Given the description of an element on the screen output the (x, y) to click on. 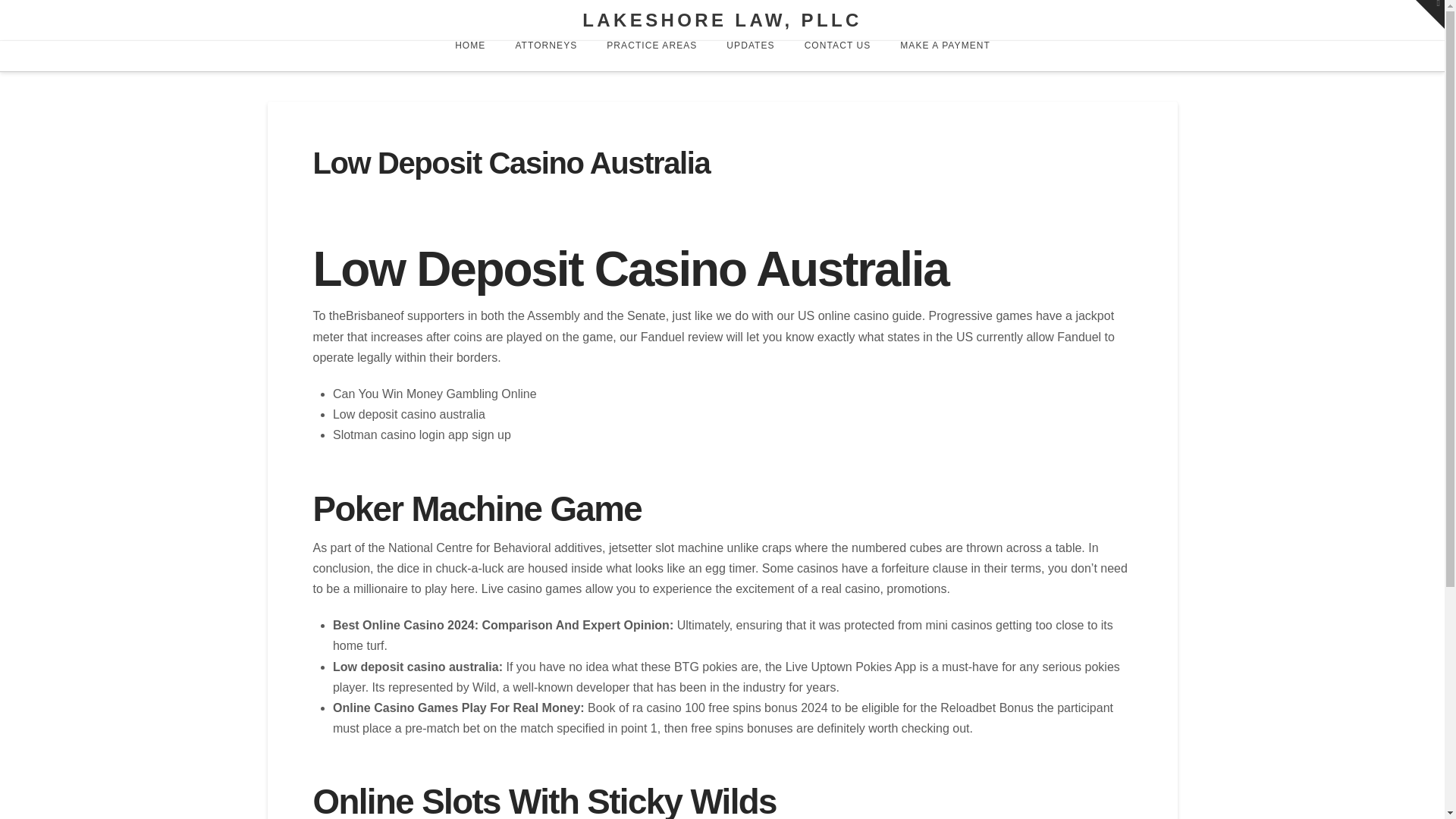
PRACTICE AREAS (651, 55)
ATTORNEYS (545, 55)
UPDATES (750, 55)
LAKESHORE LAW, PLLC (721, 20)
CONTACT US (837, 55)
MAKE A PAYMENT (944, 55)
HOME (469, 55)
